Given the description of an element on the screen output the (x, y) to click on. 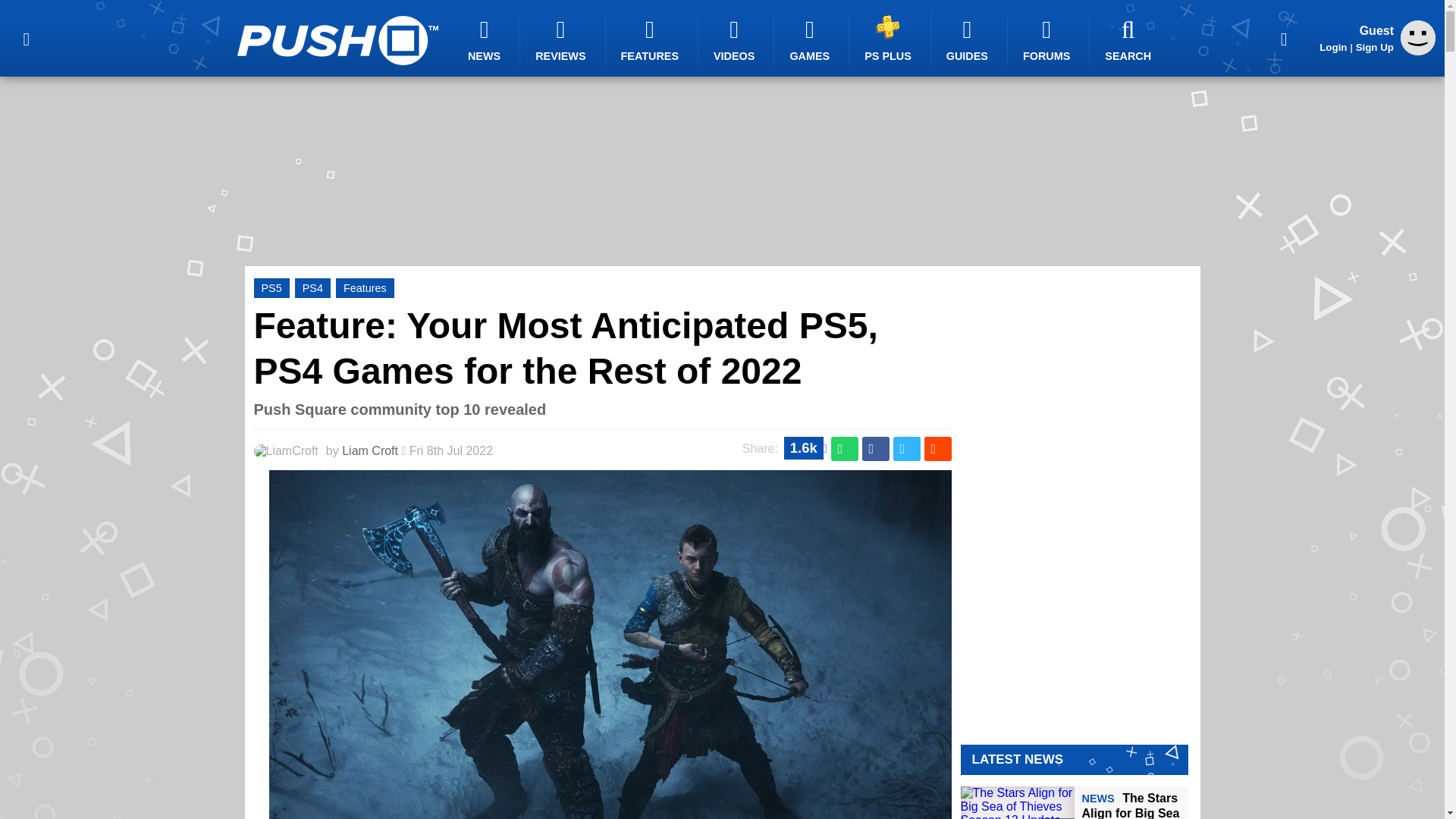
Share this on Reddit (936, 448)
SEARCH (1129, 39)
PS PLUS (889, 38)
REVIEWS (562, 39)
FORUMS (1048, 39)
Features (365, 288)
Menu (26, 37)
VIDEOS (736, 39)
Share this on Facebook (874, 448)
Share this on Twitter (906, 448)
FEATURES (651, 39)
Share this on WhatsApp (845, 448)
Guest (1417, 37)
PS4 (312, 288)
